Given the description of an element on the screen output the (x, y) to click on. 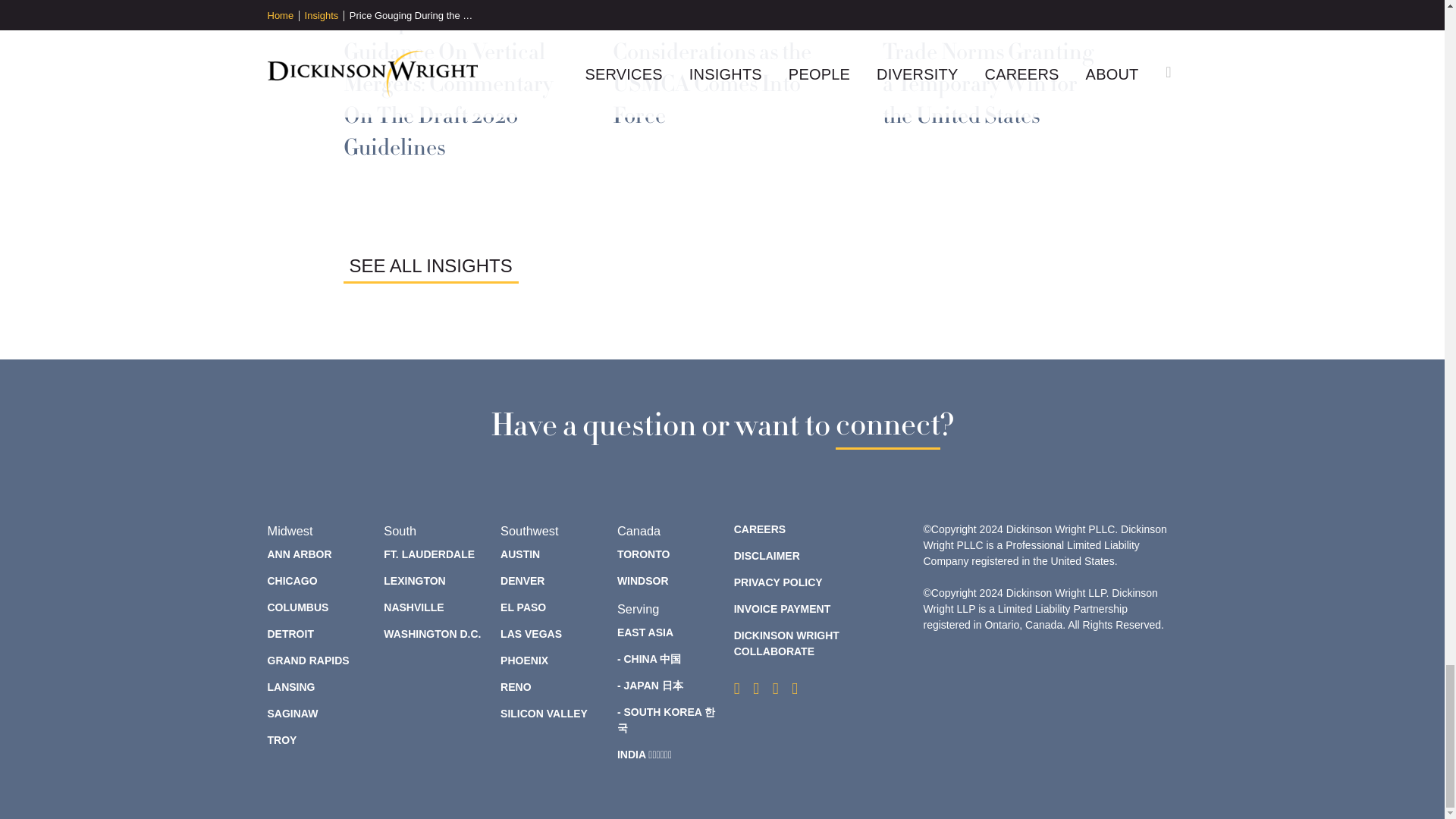
SEE ALL INSIGHTS (430, 265)
